Given the description of an element on the screen output the (x, y) to click on. 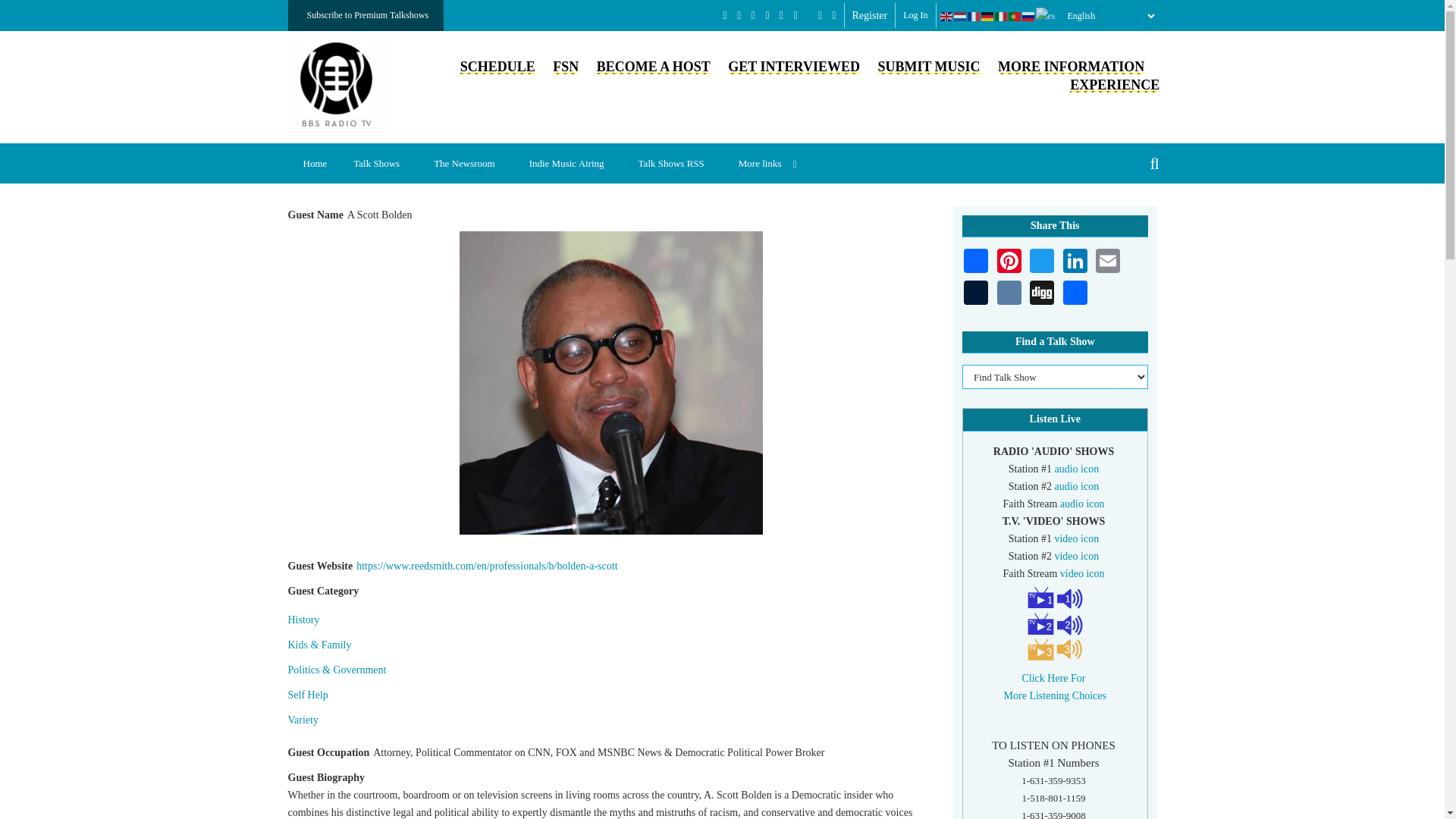
Nederlands (960, 15)
SCHEDULE (497, 66)
BBS Radio TV Live Audio Stream for Station 2 (1076, 486)
BBS Radio TV Live Audio Stream for Station 1 (1076, 469)
BBS Radio TV Live Video Stream for Station 1 (1076, 538)
Italiano (1001, 15)
Log In (914, 14)
Register (869, 15)
Faith Stream Network (565, 66)
Home (315, 163)
EXPERIENCE (1114, 84)
Faith Stream Network Live Audio Stream for Station 3 (1082, 503)
English (946, 15)
Subscribe to Premium Talkshows (366, 15)
